Given the description of an element on the screen output the (x, y) to click on. 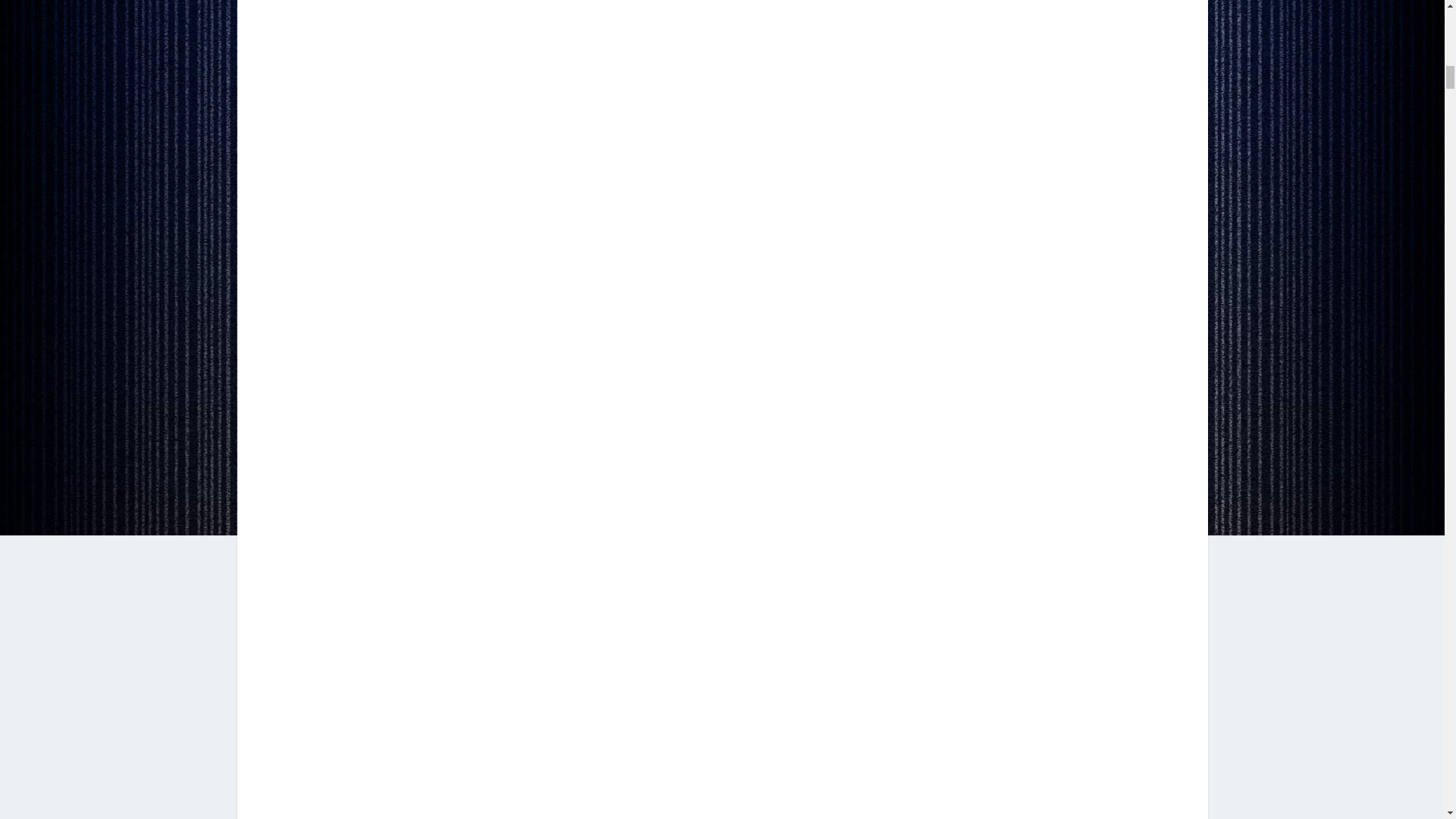
Trump Thinks Planes Are LITERALLY Invisible (721, 779)
